Given the description of an element on the screen output the (x, y) to click on. 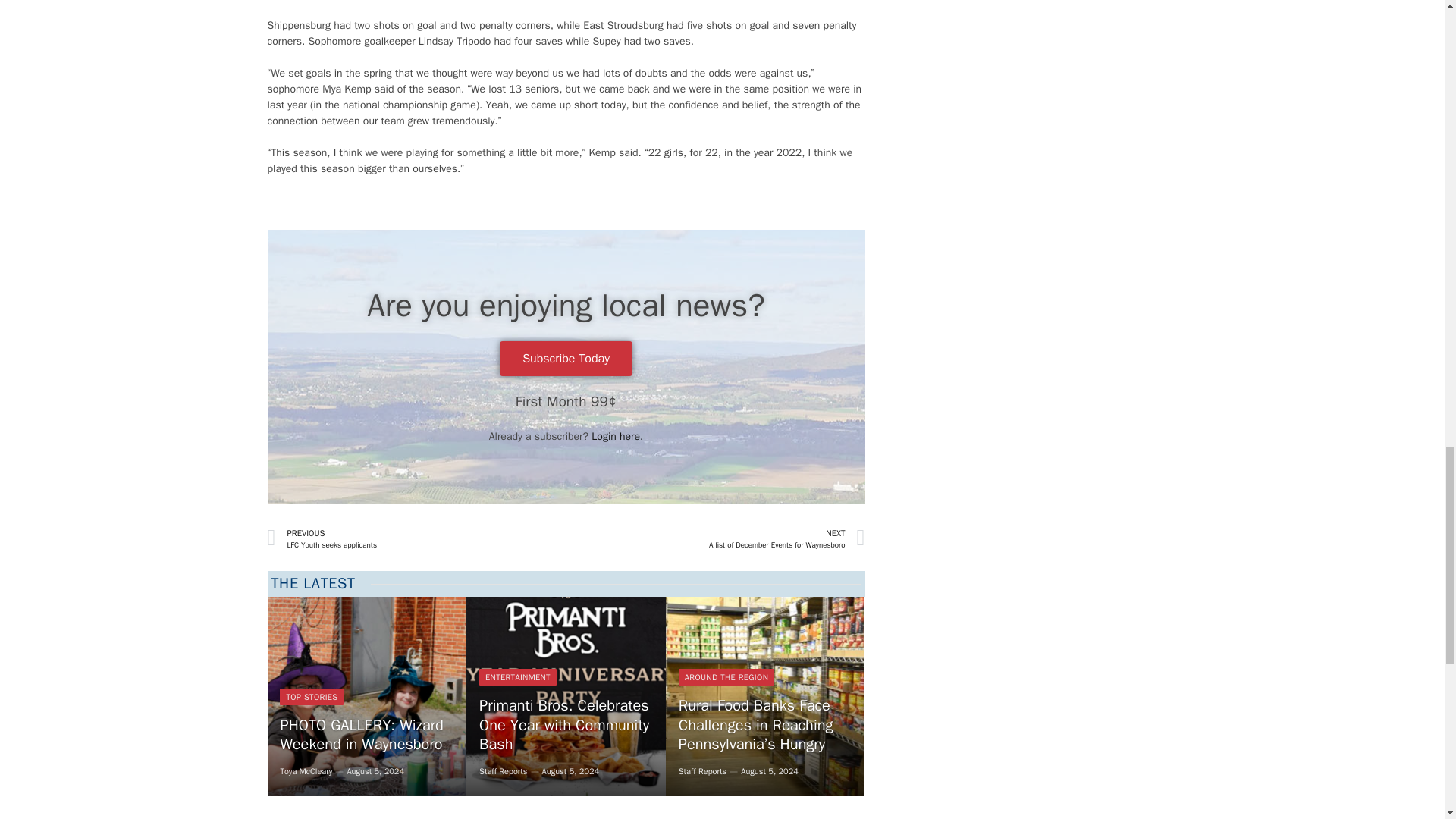
ENTERTAINMENT (517, 677)
Primanti Bros. Celebrates One Year with Community Bash (565, 725)
PHOTO GALLERY: Wizard Weekend in Waynesboro (366, 696)
Posts by Toya McCleary (305, 770)
TOP STORIES (311, 696)
Subscribe Today (565, 358)
Primanti Bros. Celebrates One Year with Community Bash (416, 538)
AROUND THE REGION (565, 696)
Toya McCleary (726, 677)
Primanti Bros. Celebrates One Year with Community Bash (305, 770)
Staff Reports (565, 696)
Posts by Staff Reports (503, 770)
PHOTO GALLERY: Wizard Weekend in Waynesboro (702, 770)
Staff Reports (365, 696)
